Given the description of an element on the screen output the (x, y) to click on. 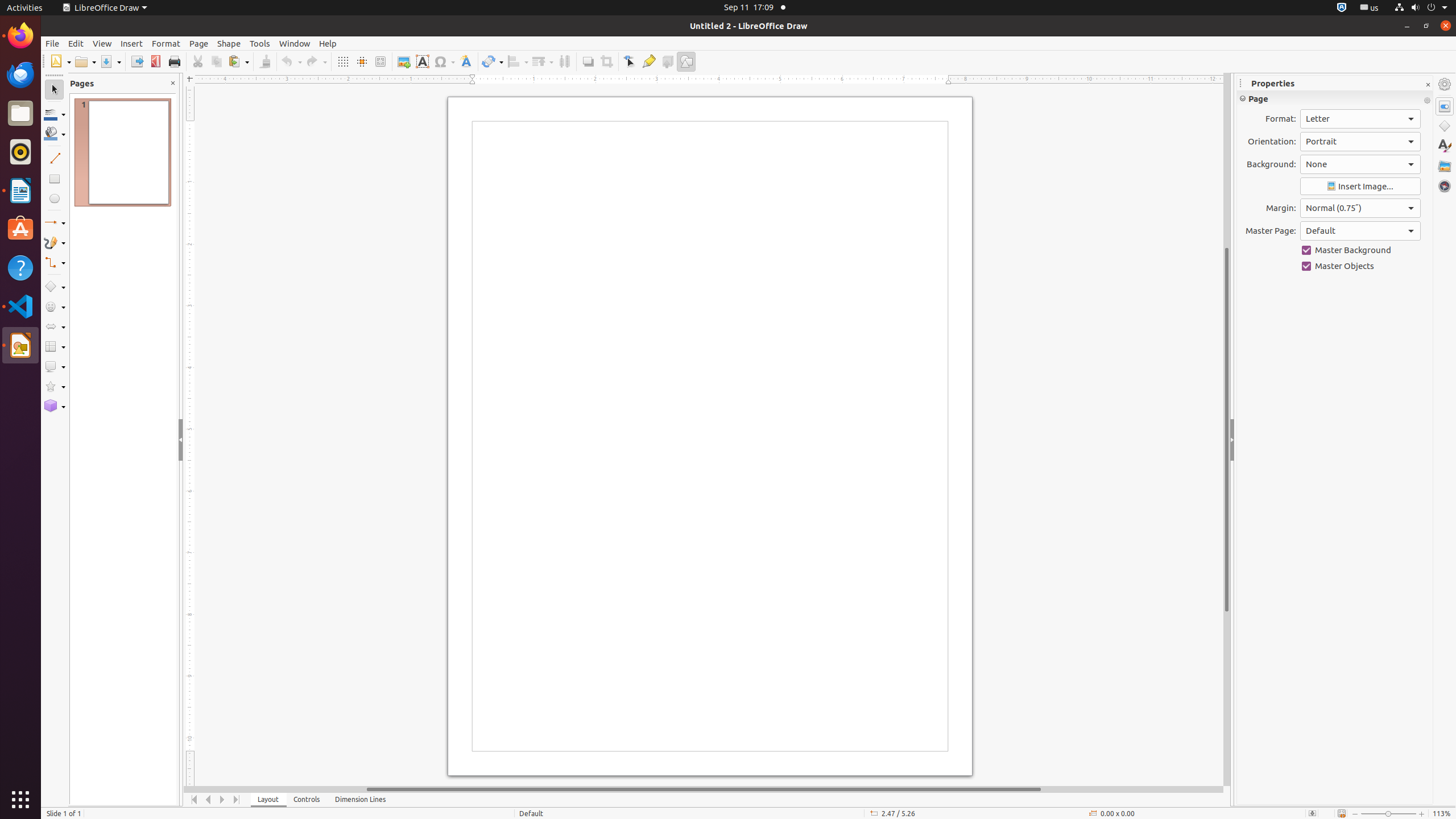
Controls Element type: page-tab (307, 799)
:1.72/StatusNotifierItem Element type: menu (1341, 7)
Move Right Element type: push-button (222, 799)
Image Element type: push-button (403, 61)
Close Sidebar Deck Element type: push-button (1427, 84)
